Given the description of an element on the screen output the (x, y) to click on. 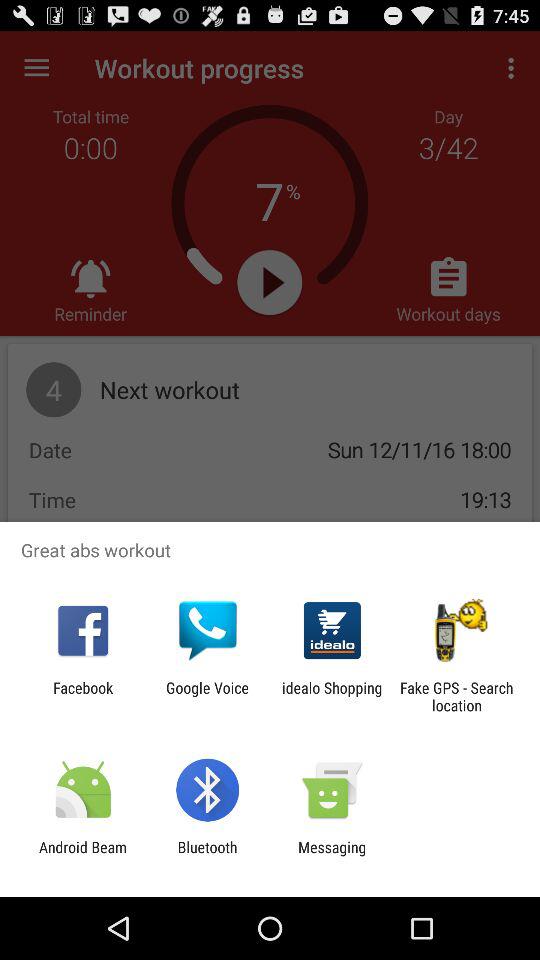
choose messaging (332, 856)
